Given the description of an element on the screen output the (x, y) to click on. 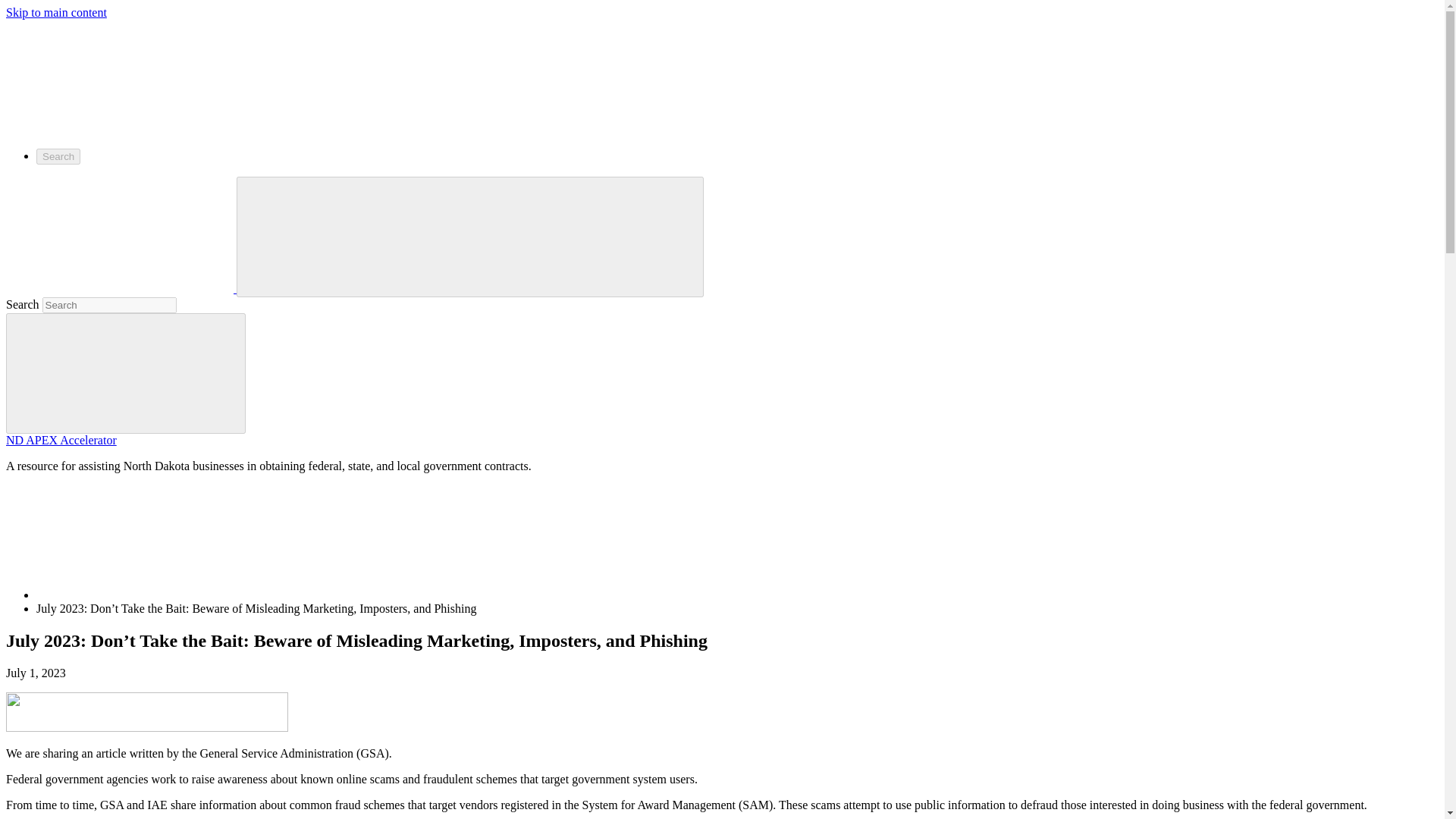
University of North Dakota (118, 128)
Skip to main content (55, 11)
ND APEX Accelerator (60, 440)
Home (149, 594)
University of North Dakota (120, 287)
Open Search (356, 235)
Close Search (583, 235)
University of North Dakota (118, 76)
Submit (125, 372)
Submit (125, 373)
